Given the description of an element on the screen output the (x, y) to click on. 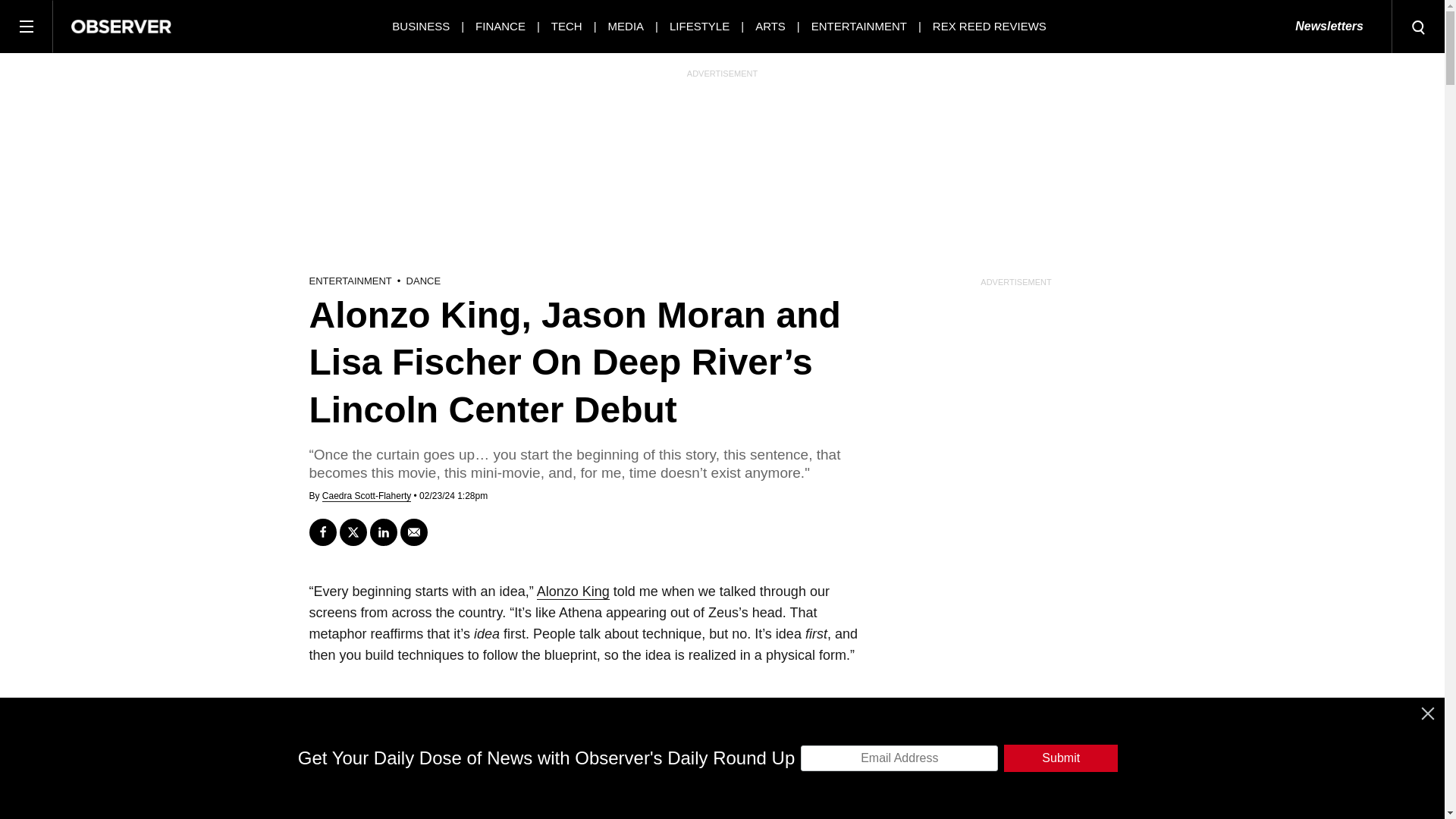
Send email (414, 532)
ENTERTAINMENT (858, 25)
MEDIA (626, 25)
Alonzo King (573, 591)
Share on Facebook (322, 532)
BUSINESS (420, 25)
LIFESTYLE (699, 25)
TECH (566, 25)
ARTS (770, 25)
FINANCE (500, 25)
Tweet (352, 532)
3rd party ad content (722, 785)
View All Posts by Caedra Scott-Flaherty (365, 496)
REX REED REVIEWS (989, 25)
Newsletters (1329, 26)
